Given the description of an element on the screen output the (x, y) to click on. 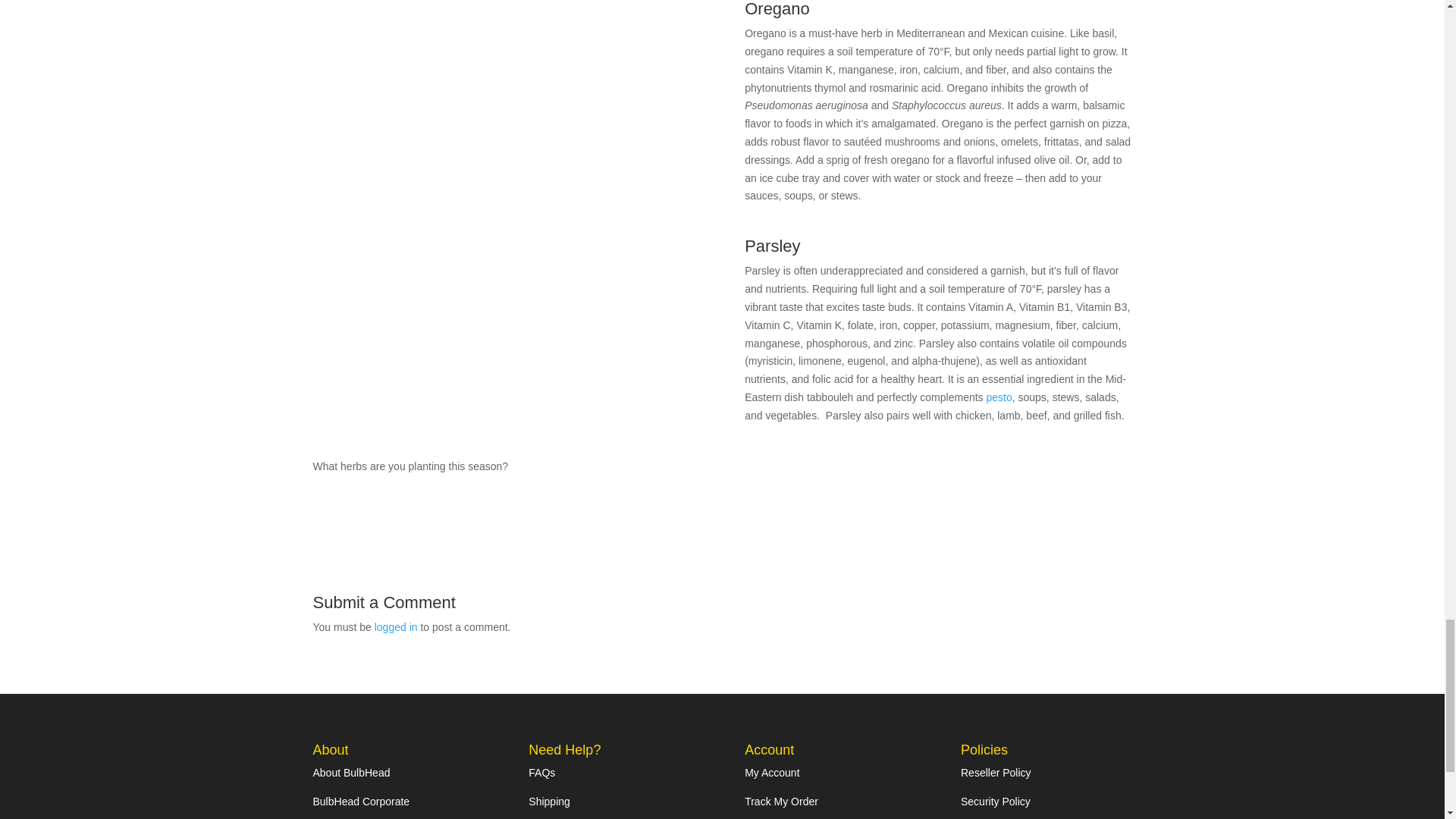
logged in (395, 626)
Reseller Policy (995, 772)
pesto (998, 397)
FAQs (541, 772)
Track My Order (781, 801)
About BulbHead (351, 772)
BulbHead Corporate (361, 801)
Security Policy (995, 801)
My Account (771, 772)
Shipping (549, 801)
